Given the description of an element on the screen output the (x, y) to click on. 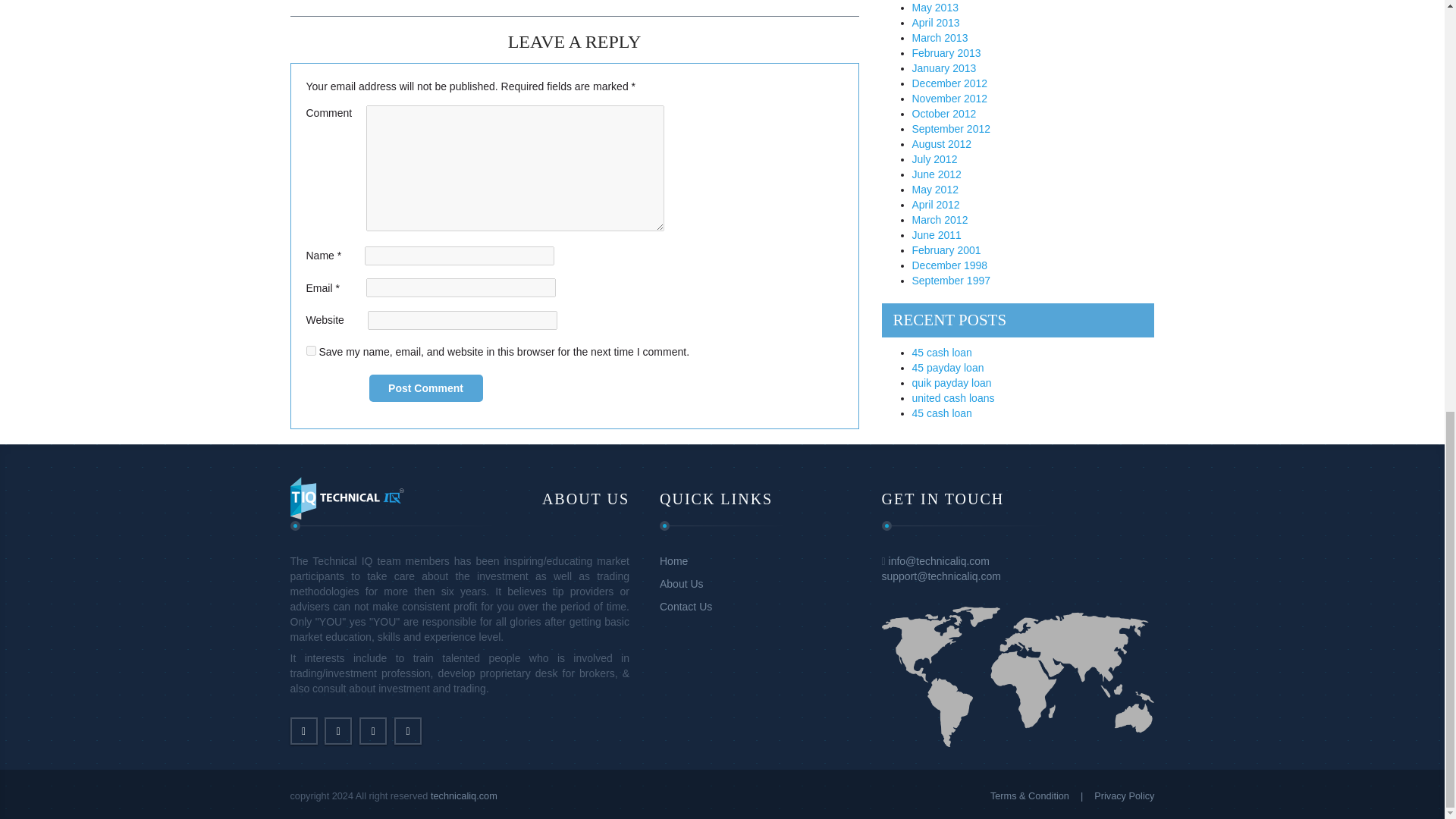
Technical IQ (346, 497)
Post Comment (424, 388)
Post Comment (424, 388)
yes (310, 350)
